Given the description of an element on the screen output the (x, y) to click on. 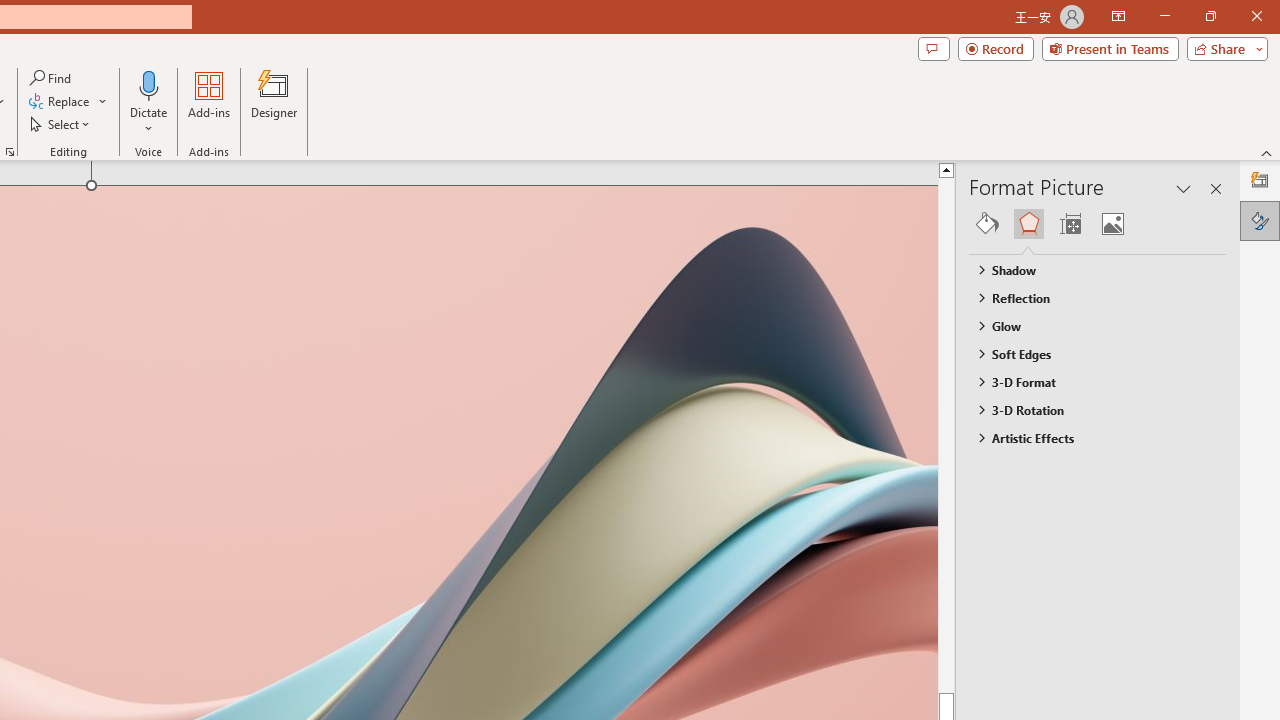
Picture (1112, 223)
Artistic Effects (1088, 438)
Reflection (1088, 297)
Glow (1088, 325)
3-D Format (1088, 381)
Effects (1028, 223)
Class: NetUIGalleryContainer (1098, 223)
Soft Edges (1088, 353)
